Given the description of an element on the screen output the (x, y) to click on. 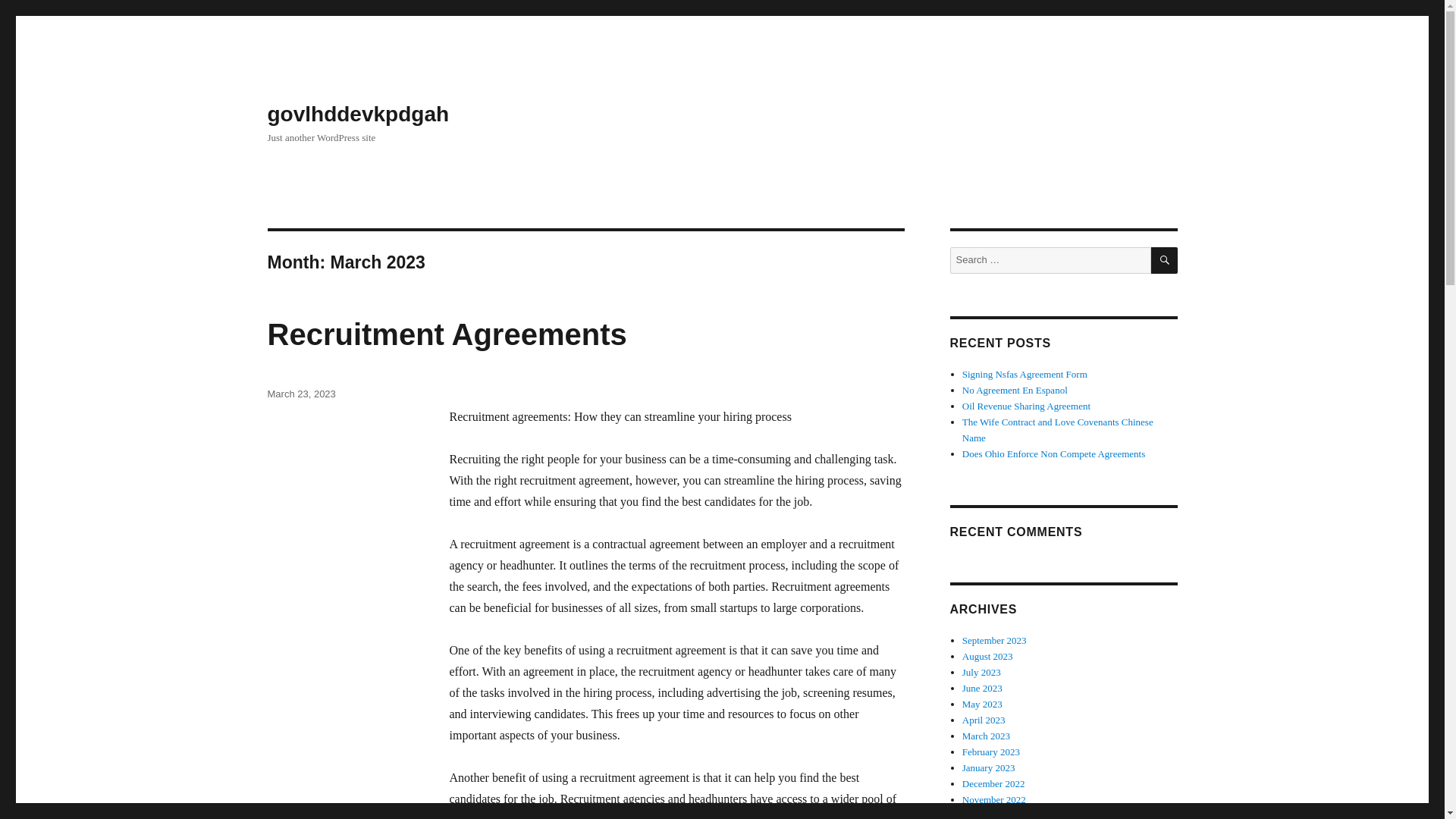
govlhddevkpdgah (357, 114)
Does Ohio Enforce Non Compete Agreements (1053, 453)
The Wife Contract and Love Covenants Chinese Name (1057, 429)
April 2023 (984, 719)
March 2023 (986, 736)
November 2022 (994, 799)
August 2023 (987, 655)
October 2022 (989, 814)
June 2023 (982, 687)
February 2023 (991, 751)
